Given the description of an element on the screen output the (x, y) to click on. 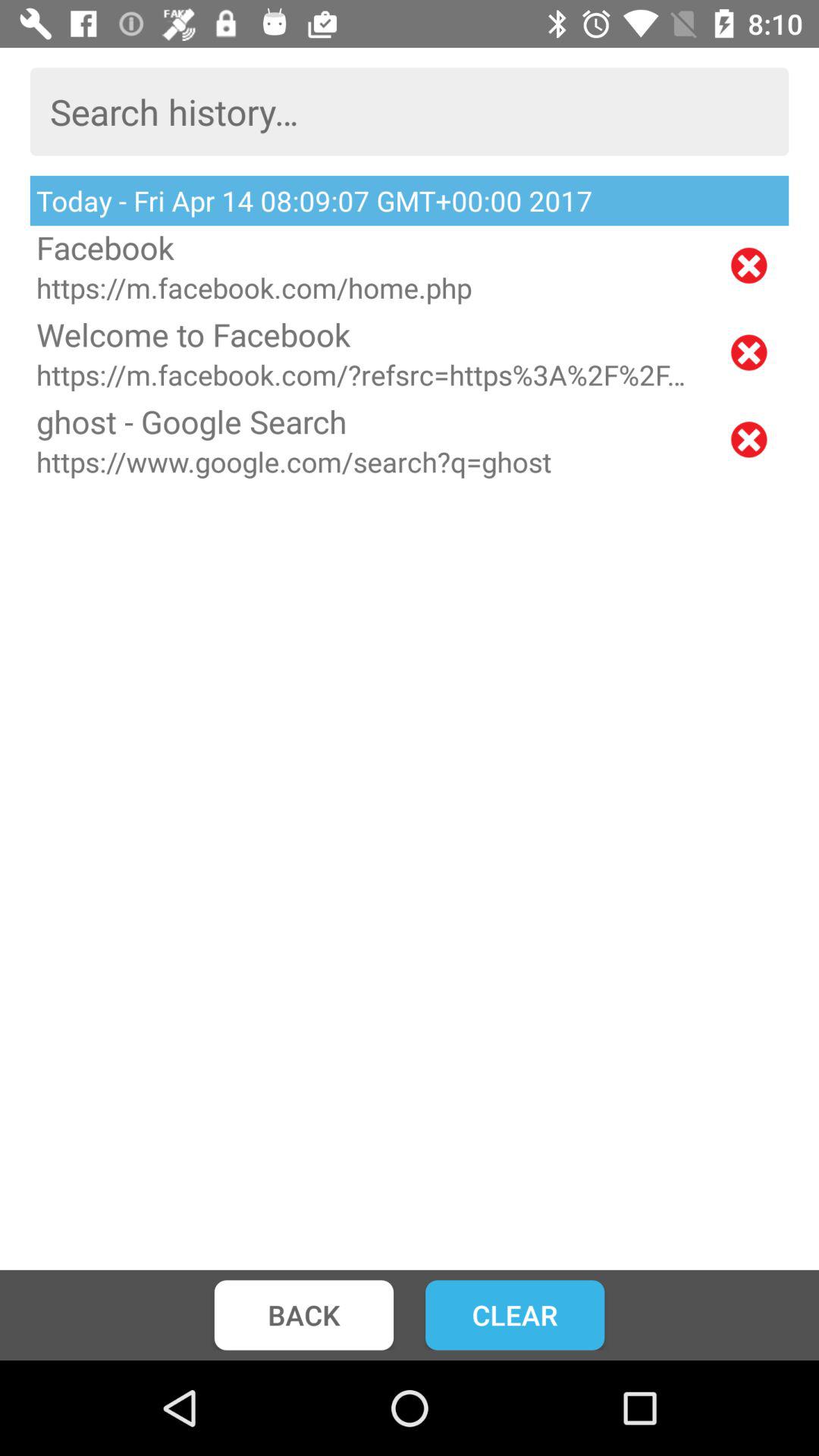
swipe to the back (303, 1315)
